Given the description of an element on the screen output the (x, y) to click on. 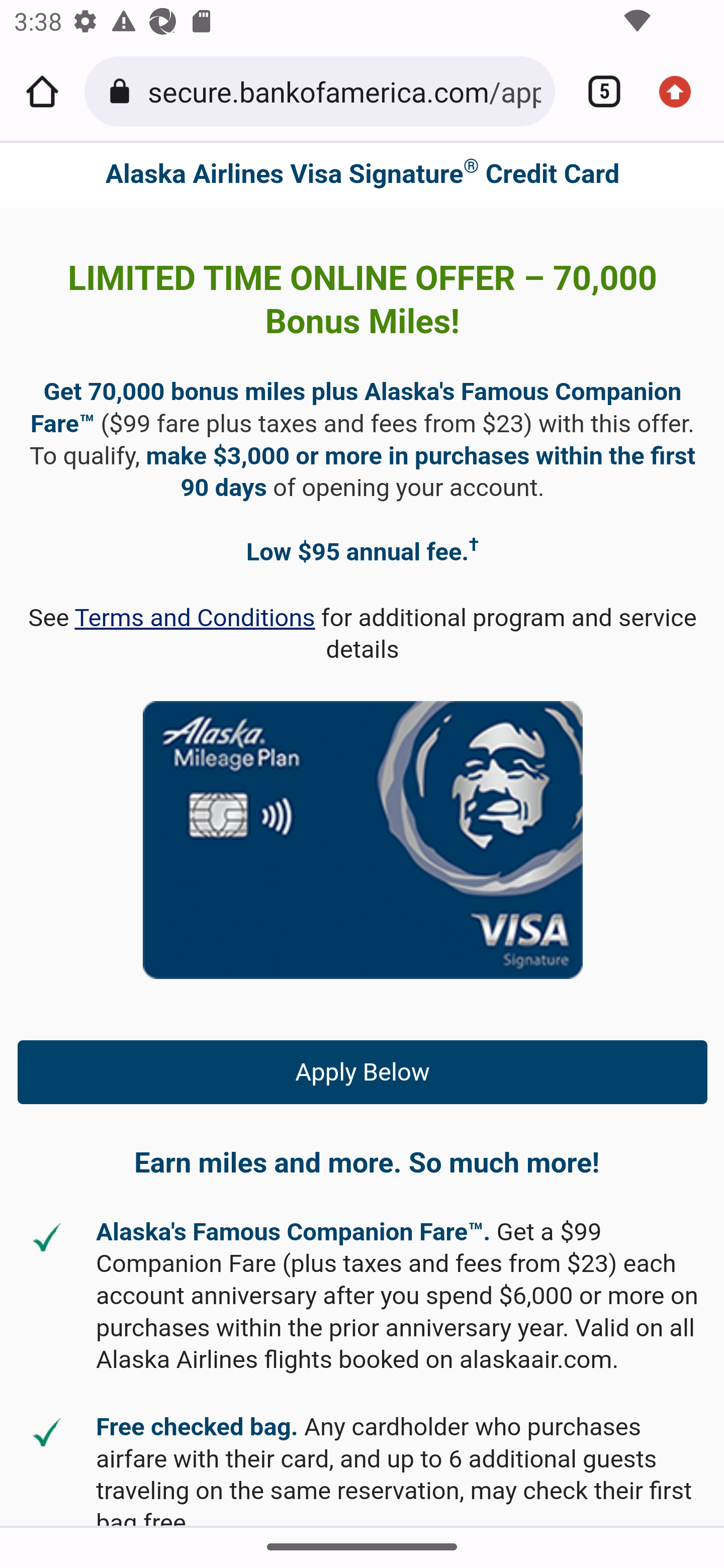
Home (42, 91)
Connection is secure (122, 91)
Switch or close tabs (597, 91)
Update available. More options (681, 91)
Terms and Conditions (195, 617)
Apply Below (362, 1071)
